Given the description of an element on the screen output the (x, y) to click on. 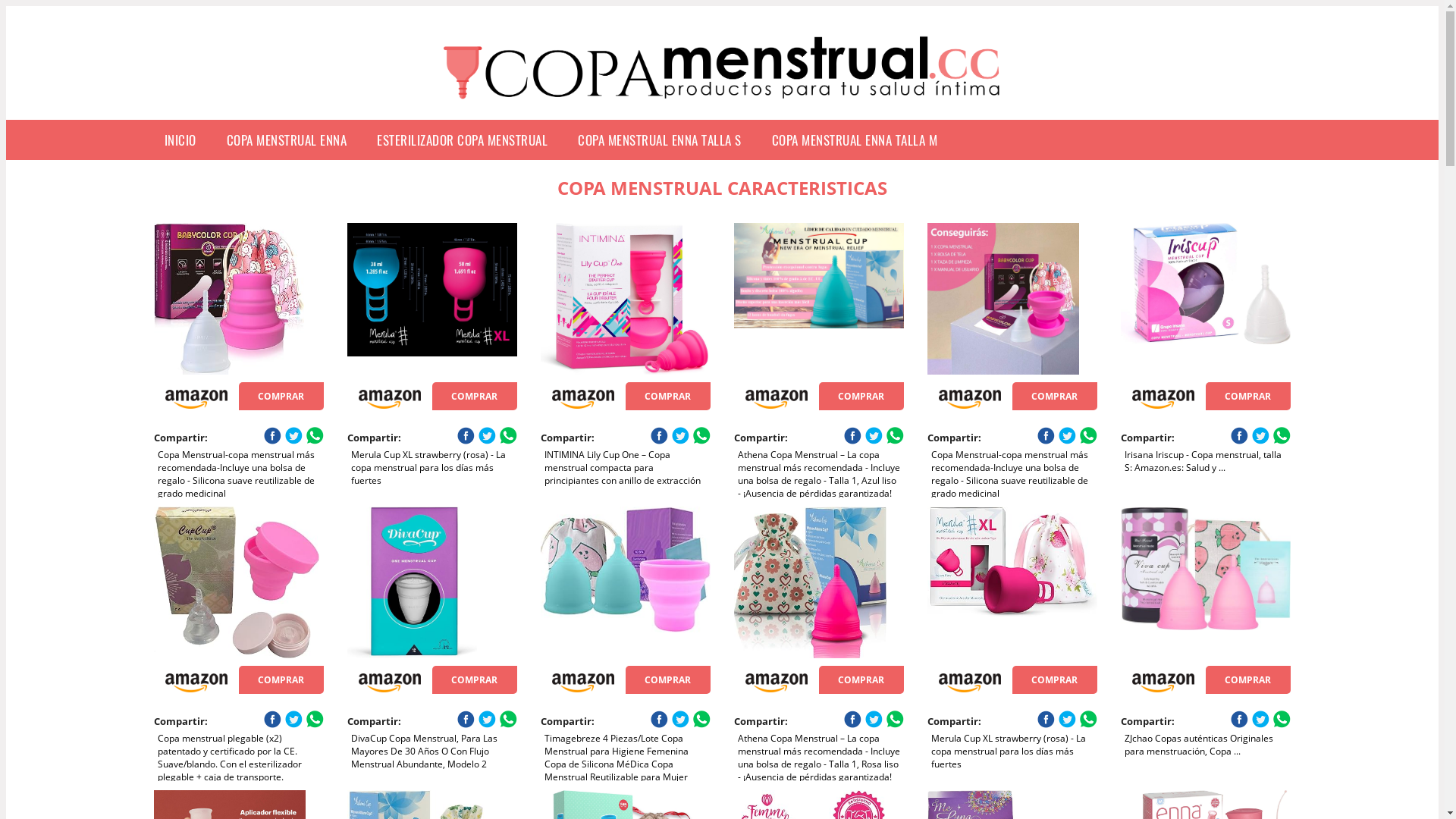
ESTERILIZADOR COPA MENSTRUAL Element type: text (461, 139)
COMPRAR Element type: text (667, 396)
COMPRAR Element type: text (861, 679)
COMPRAR Element type: text (474, 396)
COMPRAR Element type: text (667, 679)
COMPRAR Element type: text (280, 396)
COMPRAR Element type: text (861, 396)
COPA MENSTRUAL ENNA TALLA S Element type: text (659, 139)
COMPRAR Element type: text (1054, 679)
COMPRAR Element type: text (474, 679)
Inicio Element type: hover (722, 107)
COMPRAR Element type: text (1247, 396)
COPA MENSTRUAL ENNA TALLA M Element type: text (854, 139)
COMPRAR Element type: text (1054, 396)
COMPRAR Element type: text (1247, 679)
INICIO Element type: text (180, 139)
COMPRAR Element type: text (280, 679)
COPA MENSTRUAL ENNA Element type: text (286, 139)
